Given the description of an element on the screen output the (x, y) to click on. 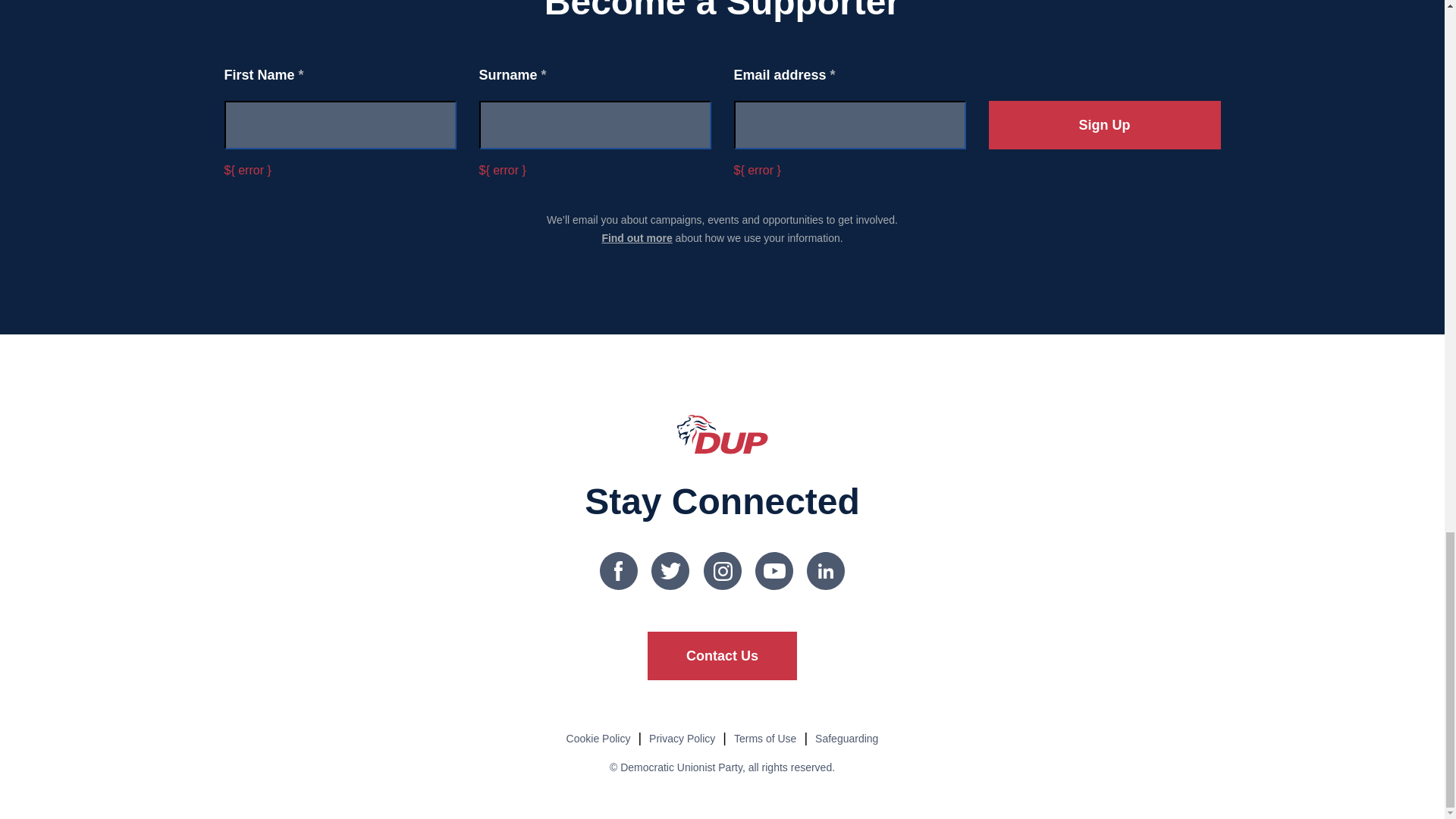
Terms of Use (764, 738)
Cookie Policy (598, 738)
Find out more (636, 237)
Privacy Policy (682, 738)
Contact Us (721, 655)
Branding (722, 434)
Safeguarding (846, 738)
Sign Up (1104, 124)
